Given the description of an element on the screen output the (x, y) to click on. 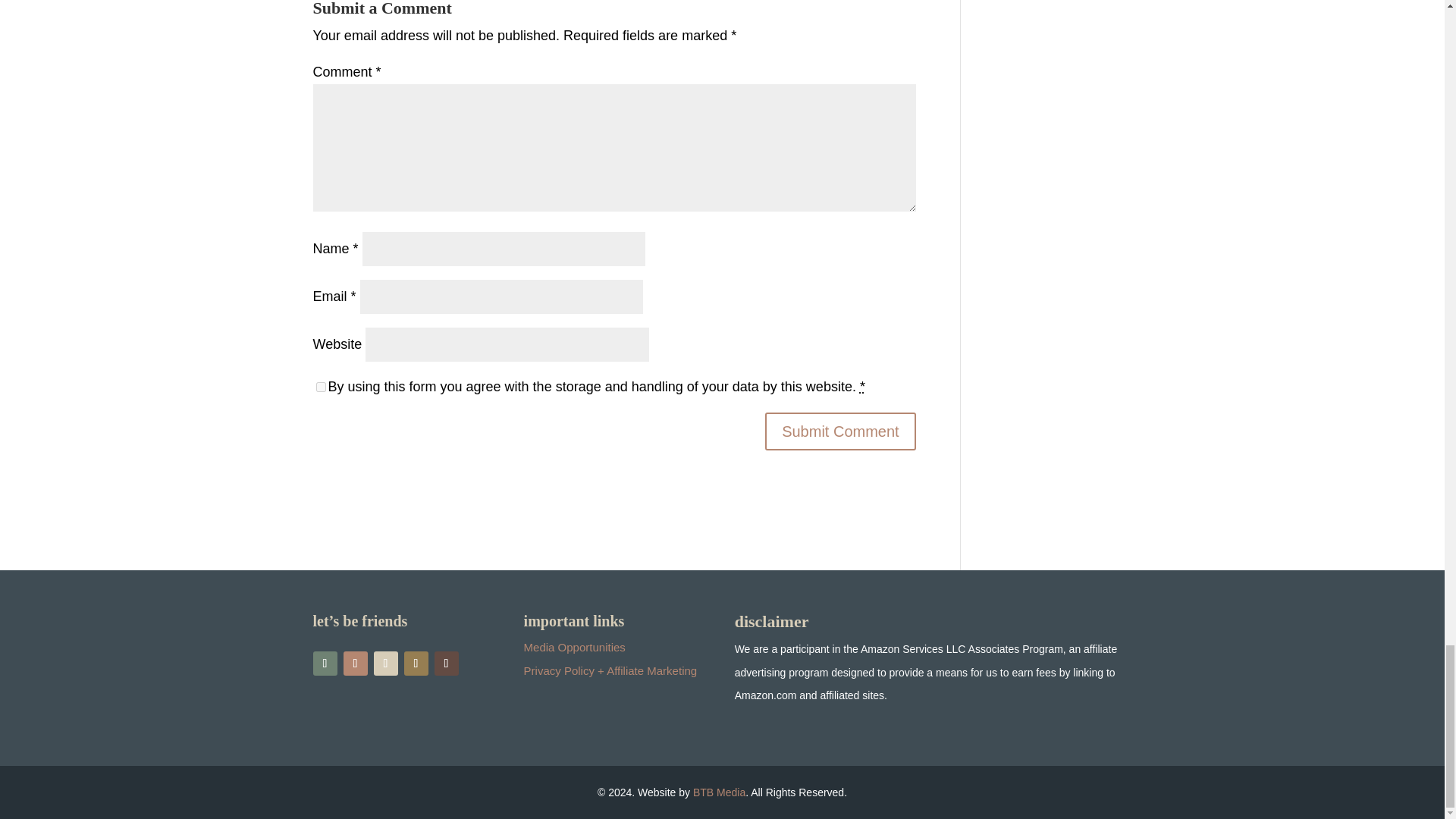
Submit Comment (840, 431)
You need to accept this checkbox (862, 386)
Follow on Instagram (324, 663)
Follow on Pinterest (415, 663)
Follow on Youtube (445, 663)
1 (319, 386)
Follow on TikTok (384, 663)
Submit Comment (840, 431)
Follow on Facebook (354, 663)
